Given the description of an element on the screen output the (x, y) to click on. 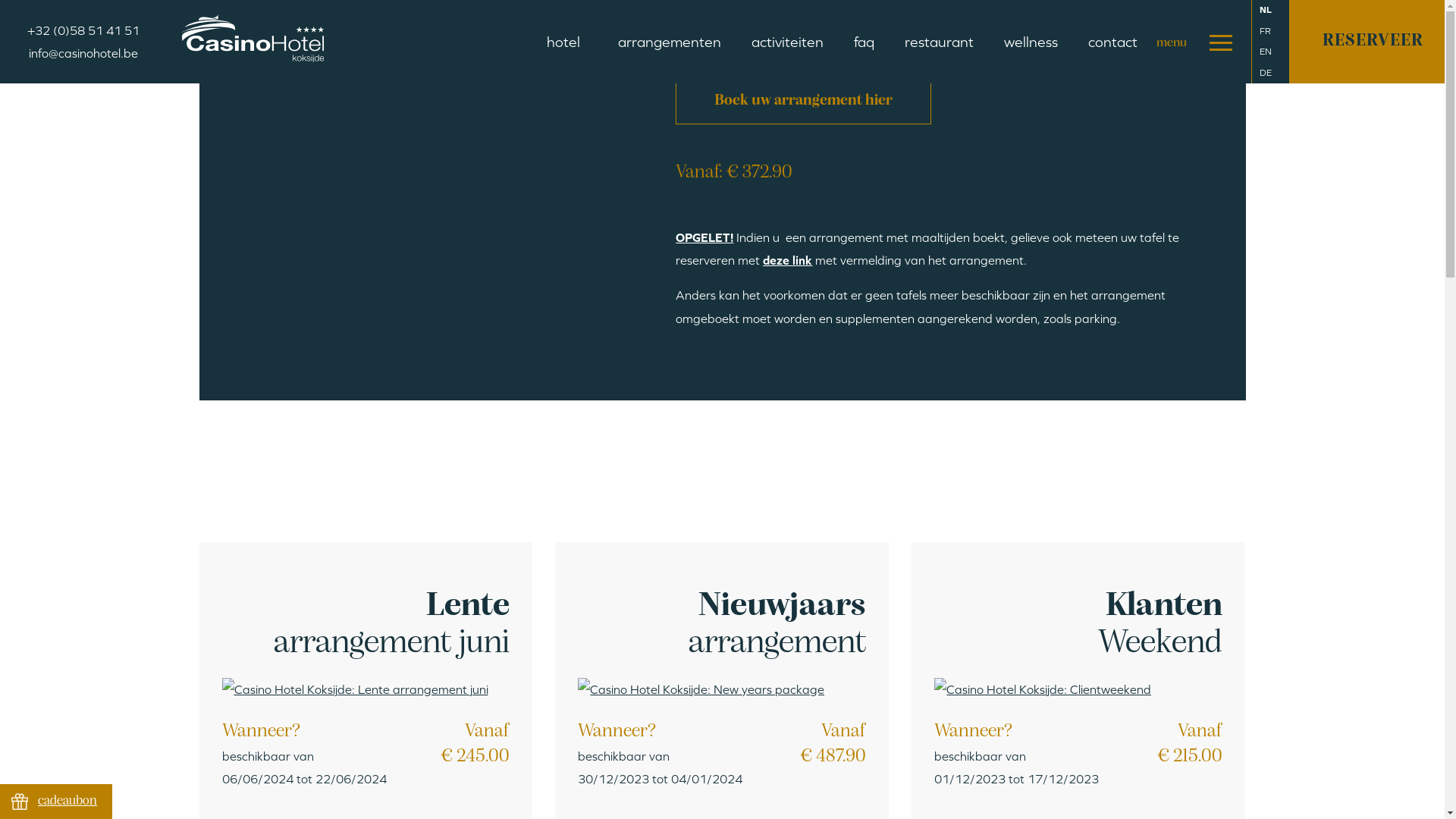
restaurant Element type: text (938, 41)
Boek uw arrangement hier Element type: text (803, 100)
arrangementen Element type: text (669, 41)
contact Element type: text (1112, 41)
FR Element type: text (1265, 31)
deze link Element type: text (787, 259)
+32 (0)58 51 41 51 Element type: text (83, 30)
EN Element type: text (1265, 51)
hotel Element type: text (566, 41)
Casino Hotel Koksijde: Lente arrangement juni Element type: hover (354, 688)
wellness Element type: text (1030, 41)
DE Element type: text (1265, 72)
kamers Element type: text (610, 85)
NL Element type: text (1265, 10)
Mozart menu Element type: text (741, 14)
Casino Hotel Koksijde: New years package Element type: hover (700, 688)
Casino Hotel Koksijde: Christmas package Element type: hover (121, 11)
Casino Hotel Koksijde: Clientweekend Element type: hover (1042, 688)
activiteiten Element type: text (787, 41)
faq Element type: text (863, 41)
Overslaan en naar de inhoud gaan Element type: text (0, 0)
info@casinohotel.be Element type: text (83, 52)
